Given the description of an element on the screen output the (x, y) to click on. 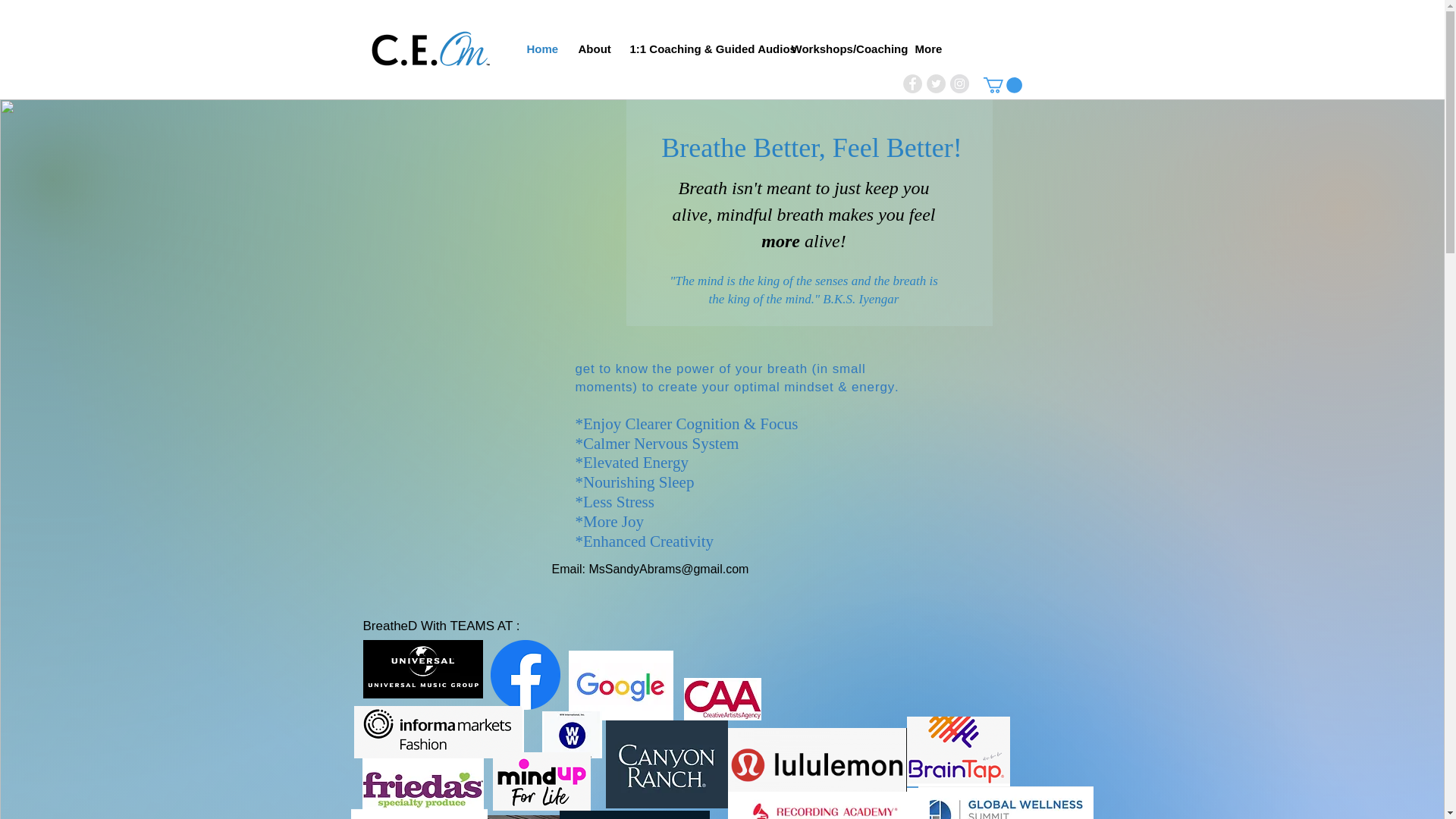
About (592, 48)
CAA logo.jpg (722, 699)
Home (541, 48)
GWSLogo.jpg (1005, 802)
CRT logo.jpg (665, 764)
